Given the description of an element on the screen output the (x, y) to click on. 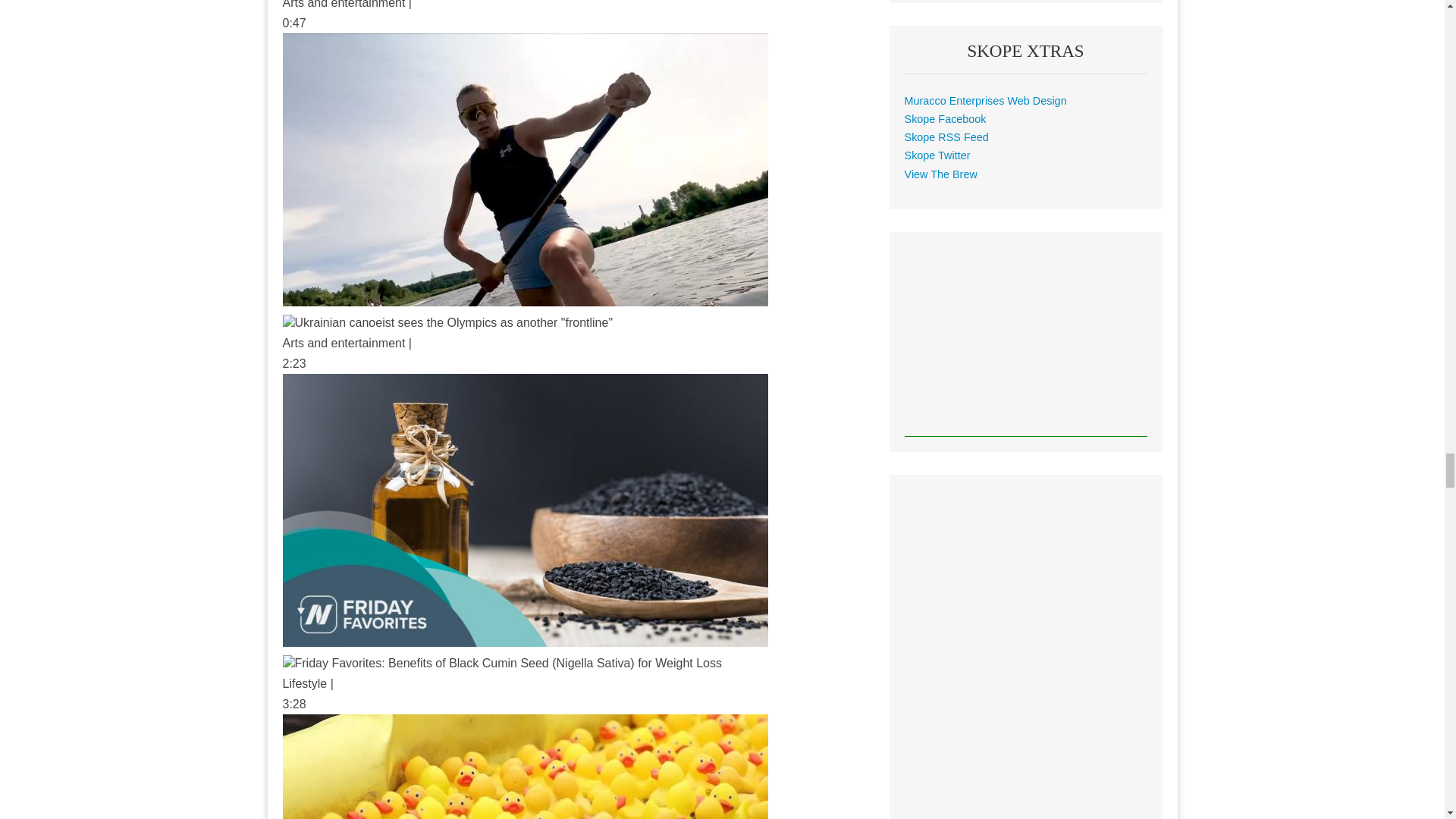
Skopemag.com RSS Feed (946, 137)
